Given the description of an element on the screen output the (x, y) to click on. 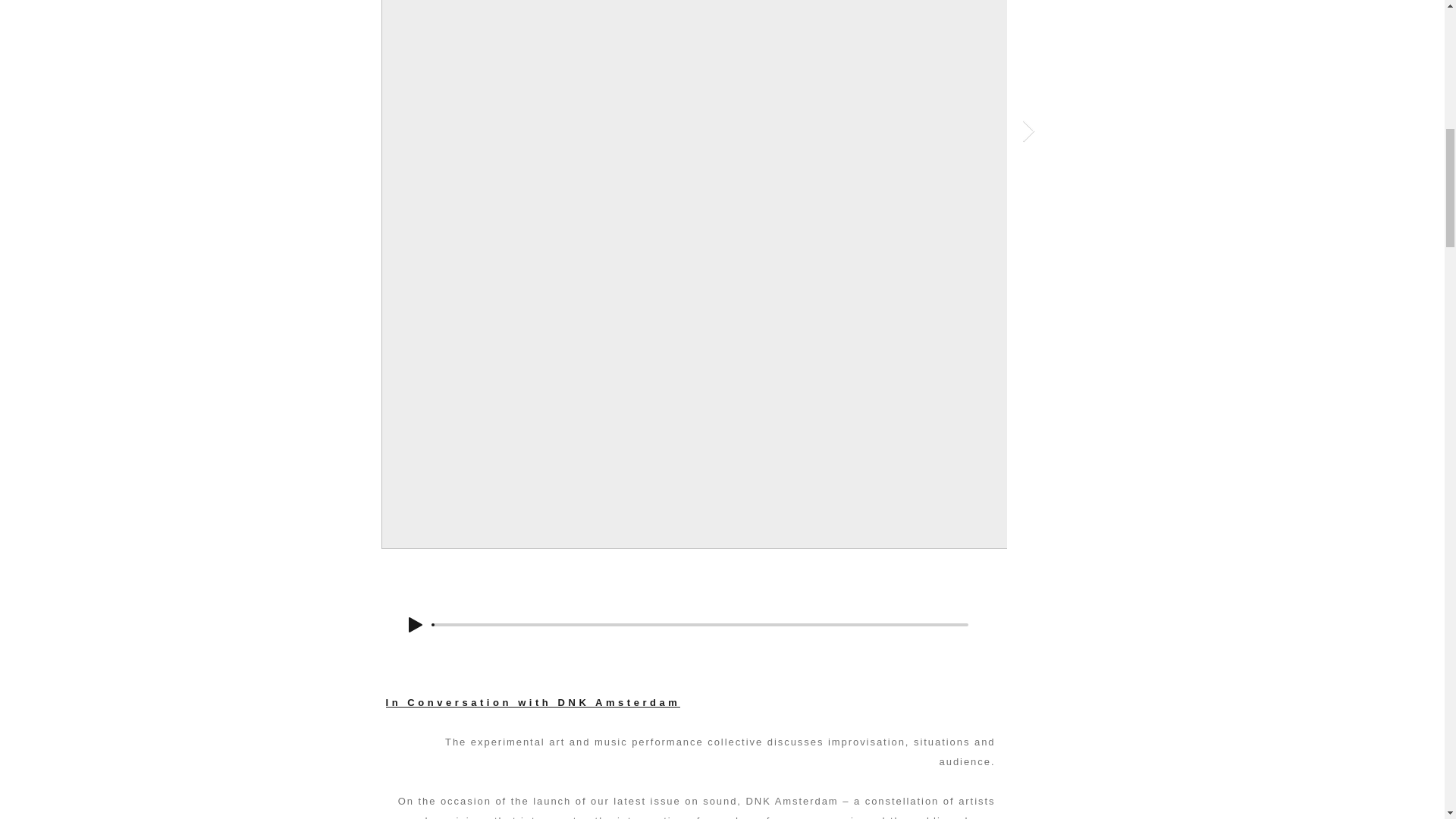
In Conversation with DNK Amsterdam (532, 702)
0 (700, 624)
